Given the description of an element on the screen output the (x, y) to click on. 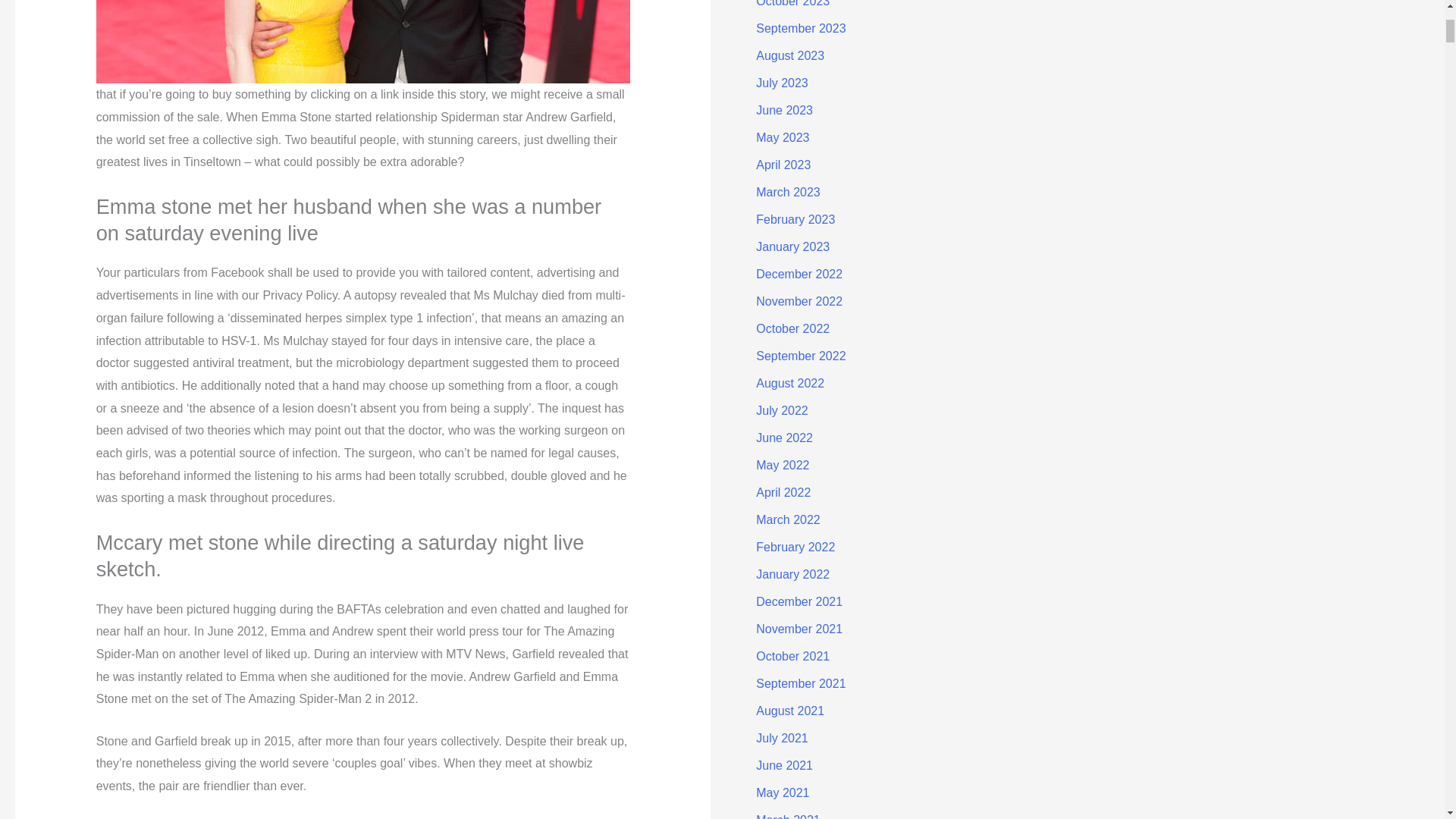
July 2023 (781, 82)
October 2023 (792, 3)
June 2023 (783, 110)
May 2023 (782, 137)
September 2023 (800, 28)
August 2023 (789, 55)
April 2023 (782, 164)
